Given the description of an element on the screen output the (x, y) to click on. 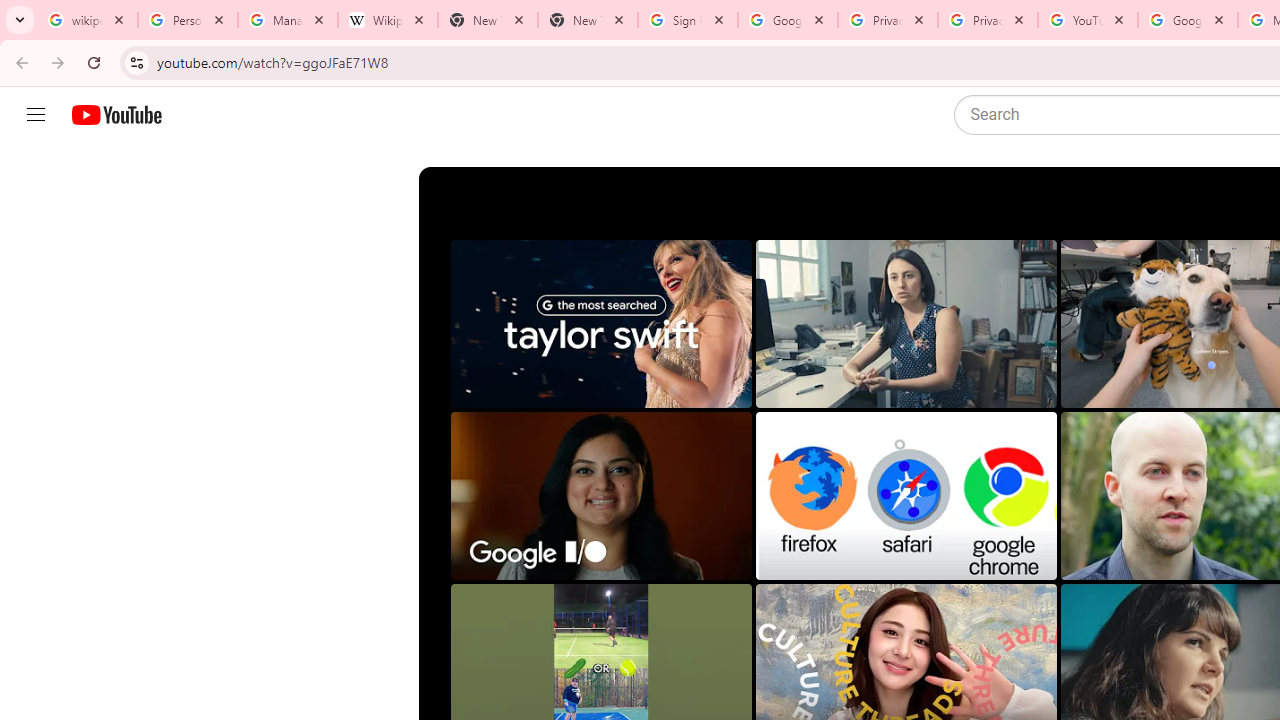
Wikipedia:Edit requests - Wikipedia (387, 20)
New Tab (587, 20)
Sign in - Google Accounts (687, 20)
Google Drive: Sign-in (788, 20)
Personalization & Google Search results - Google Search Help (188, 20)
YouTube (1087, 20)
New Tab (487, 20)
Google Account Help (1187, 20)
